Given the description of an element on the screen output the (x, y) to click on. 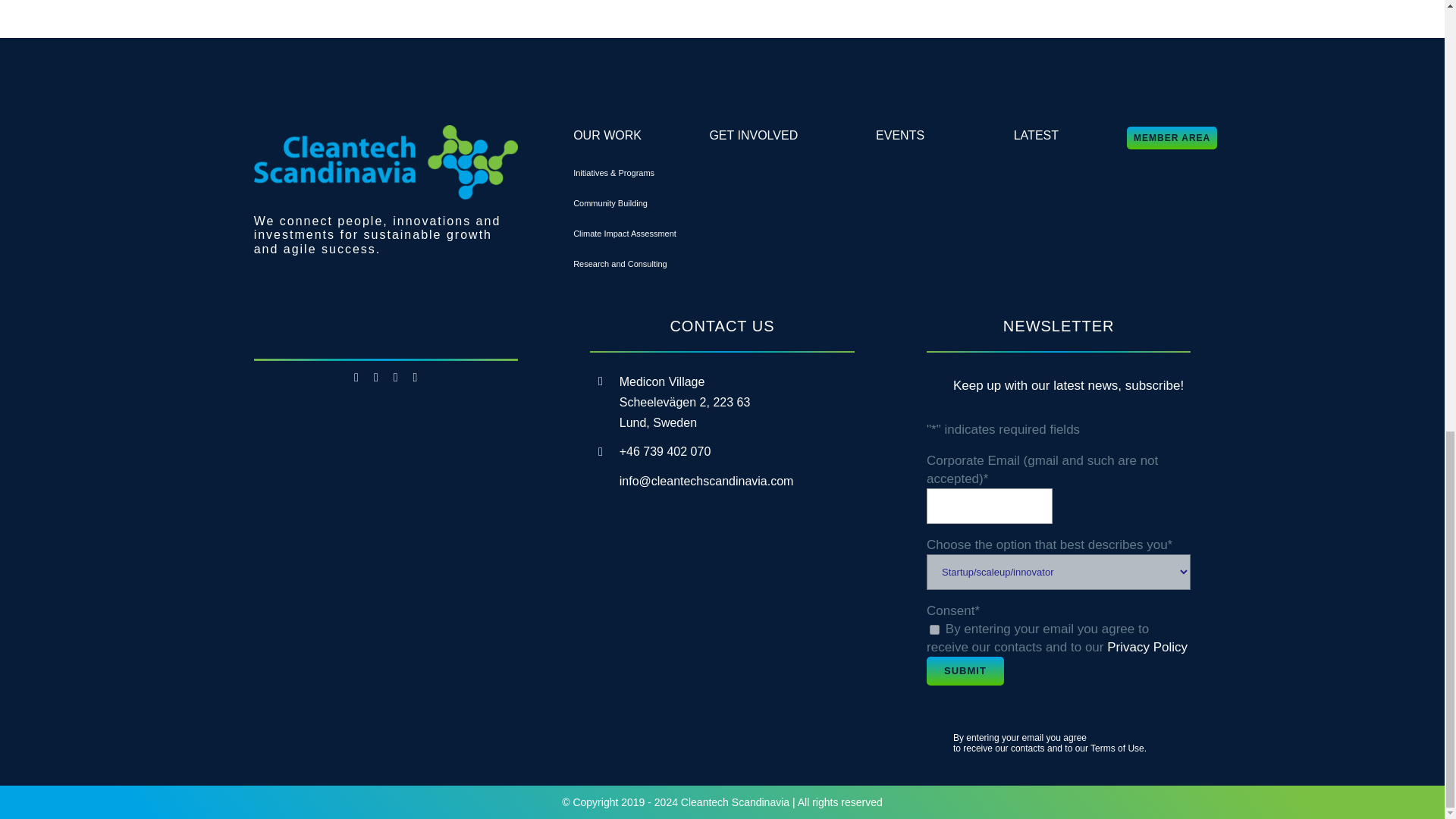
GET INVOLVED (753, 134)
Community Building (610, 203)
Research and Consulting (619, 263)
MEMBER AREA (1171, 137)
1 (934, 629)
Climate Impact Assessment (625, 233)
Privacy Policy (1147, 646)
Terms of Use (1117, 747)
Submit (965, 670)
Submit (965, 670)
